Given the description of an element on the screen output the (x, y) to click on. 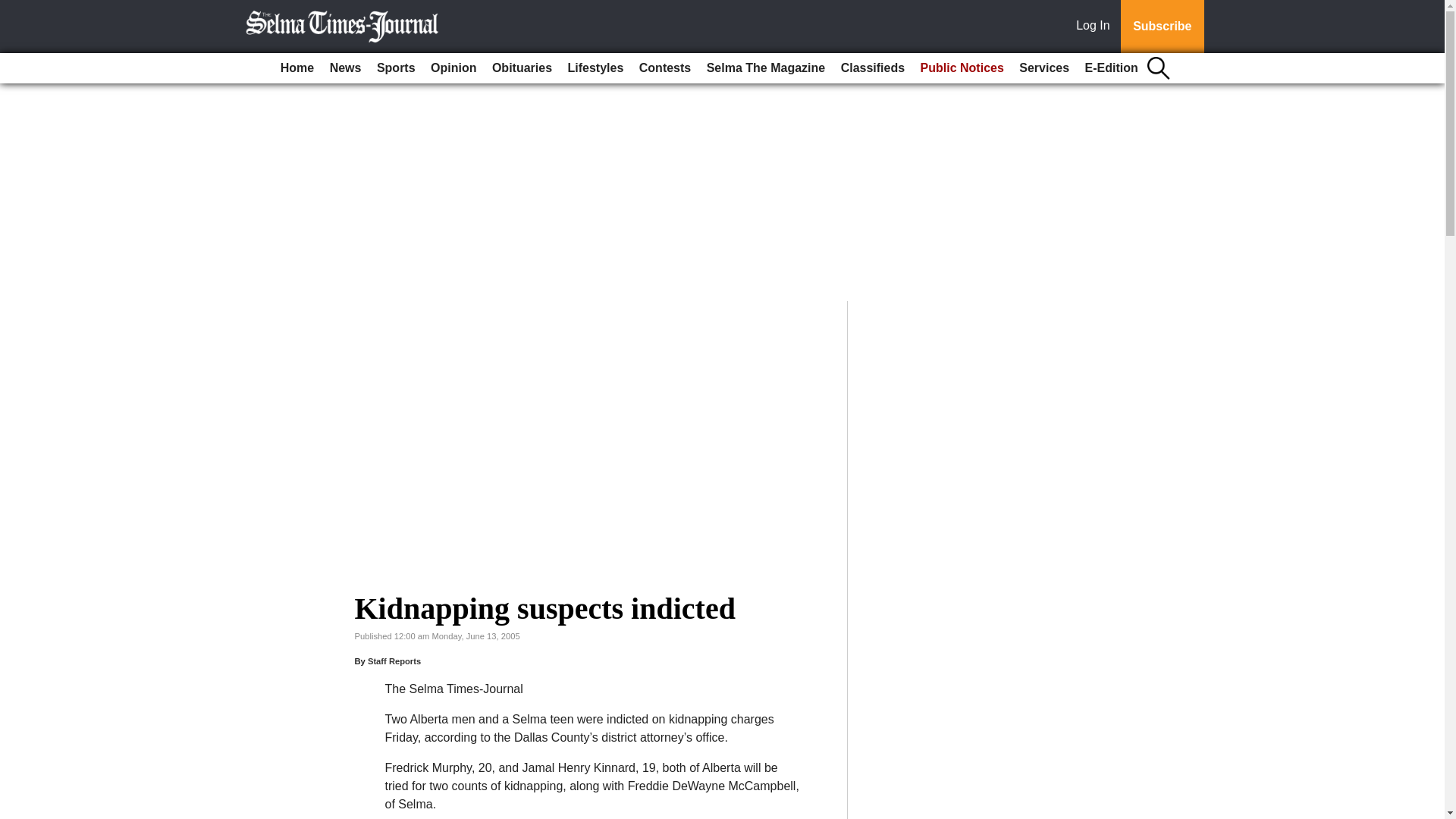
Log In (1095, 26)
Sports (396, 68)
Staff Reports (394, 660)
Lifestyles (596, 68)
Contests (665, 68)
Opinion (453, 68)
Classifieds (872, 68)
Selma The Magazine (765, 68)
Subscribe (1162, 26)
Services (1044, 68)
Obituaries (521, 68)
News (345, 68)
Go (13, 9)
E-Edition (1111, 68)
Public Notices (962, 68)
